Given the description of an element on the screen output the (x, y) to click on. 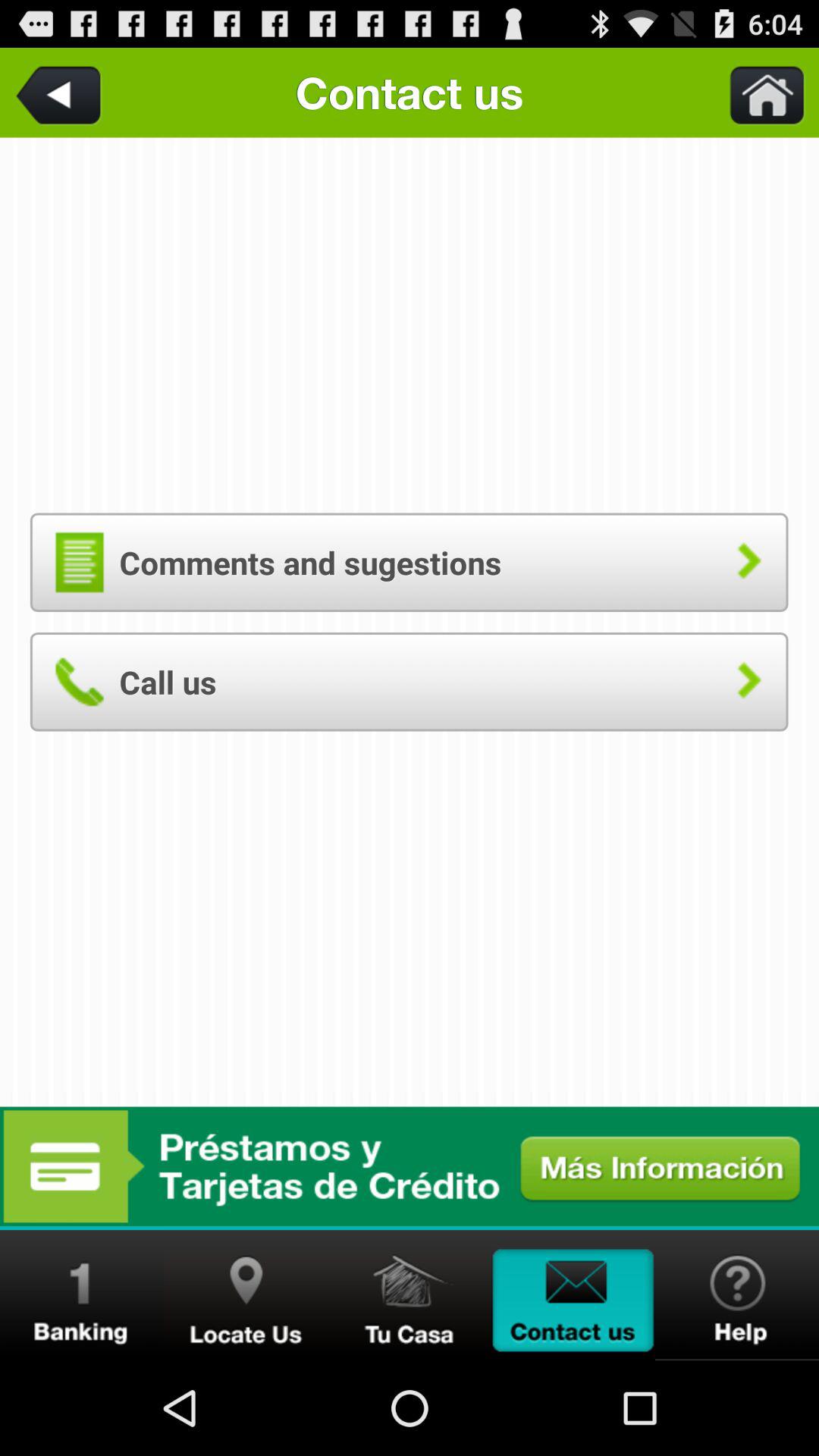
the place to see the location of your house relative to something else (409, 1295)
